Given the description of an element on the screen output the (x, y) to click on. 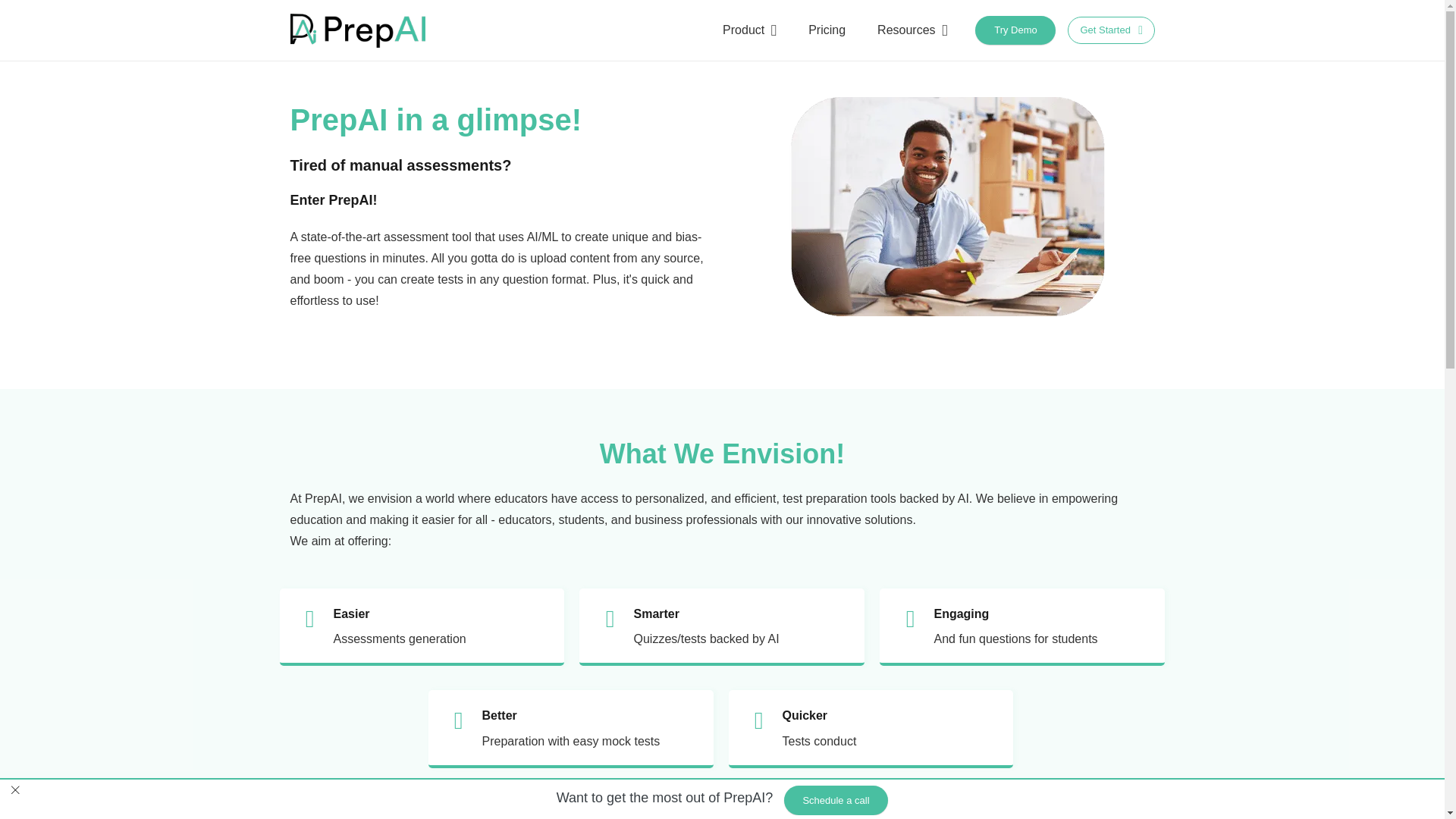
Get Started (1110, 30)
Product (749, 30)
Resources (911, 30)
Try Demo (1015, 30)
Pricing (826, 30)
